Given the description of an element on the screen output the (x, y) to click on. 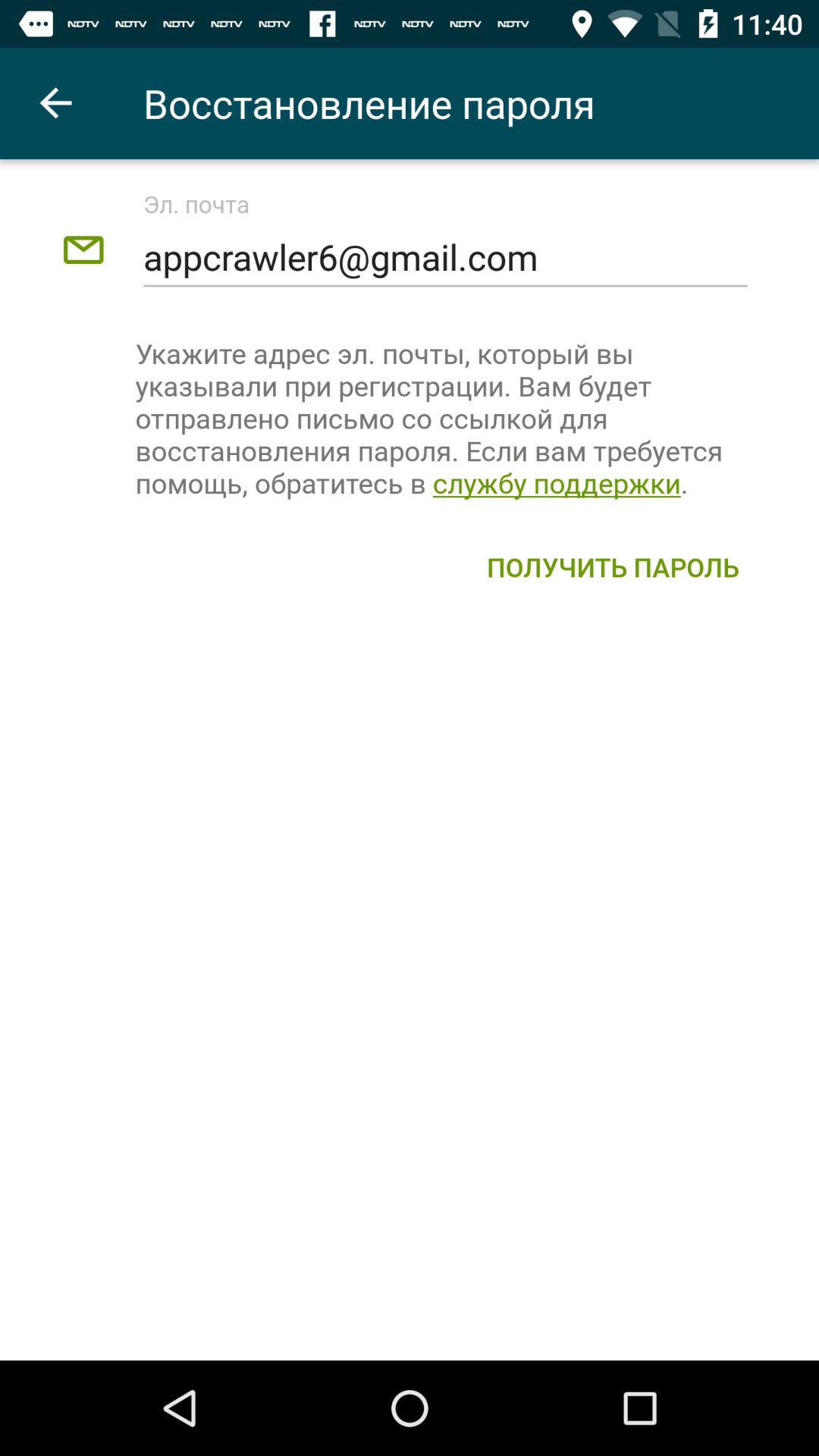
select icon below appcrawler6@gmail.com icon (445, 417)
